Given the description of an element on the screen output the (x, y) to click on. 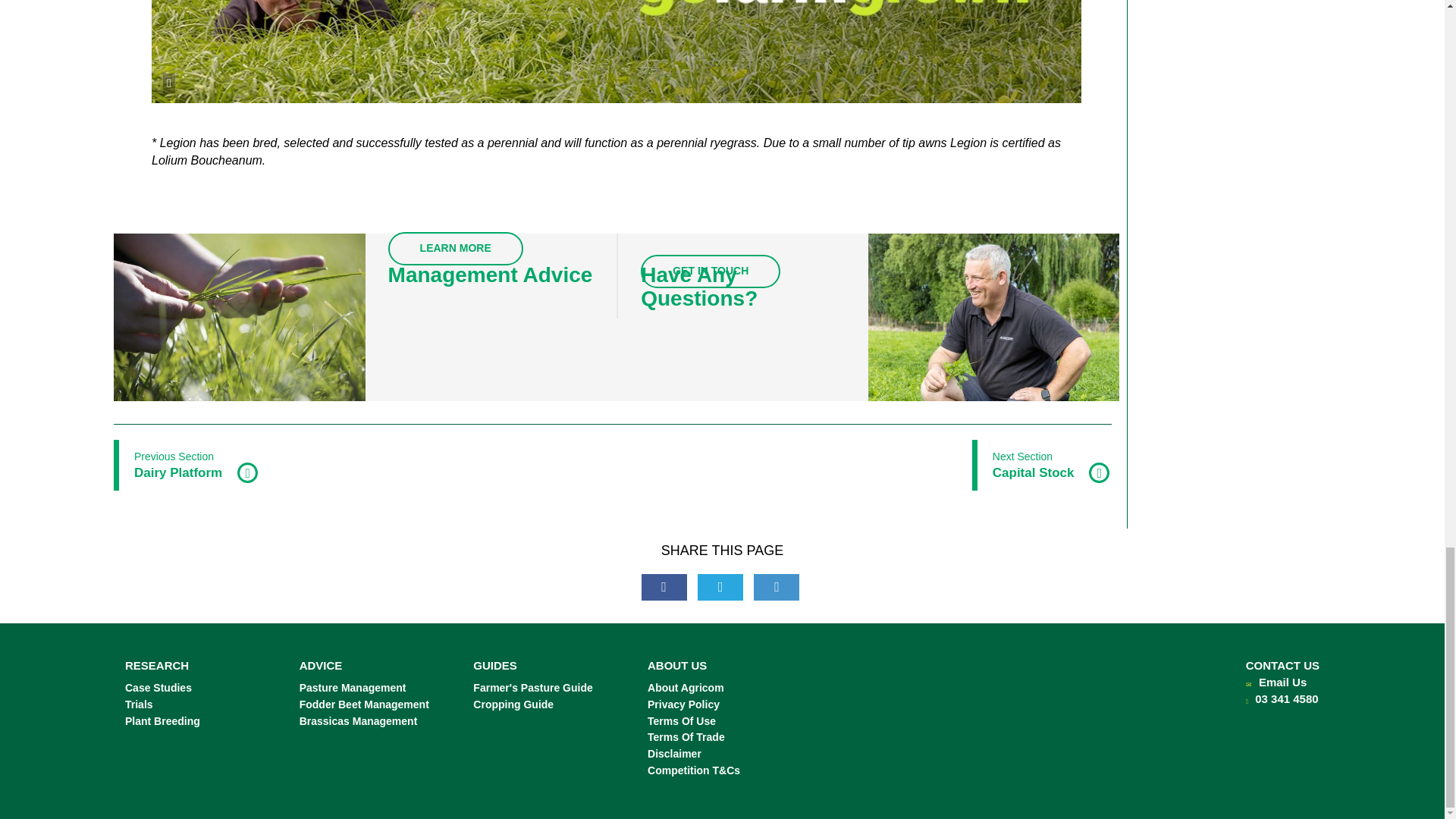
"Dairy Platform" (186, 464)
"Capital Stock" (1042, 464)
Share page via Linkedin (776, 587)
Share page via Twitter (719, 587)
Share page via Facebook (664, 587)
